Given the description of an element on the screen output the (x, y) to click on. 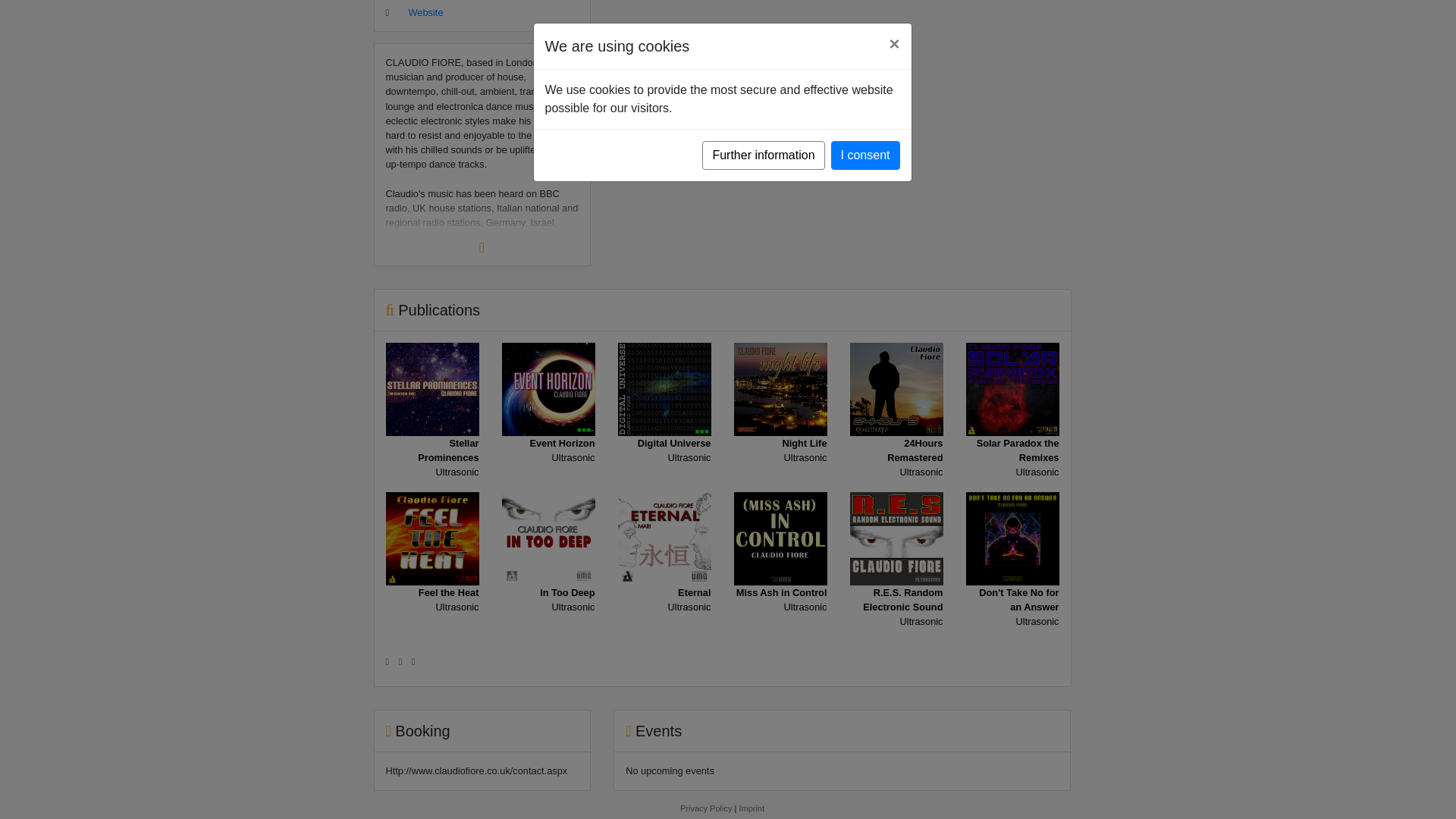
Website (424, 12)
